Given the description of an element on the screen output the (x, y) to click on. 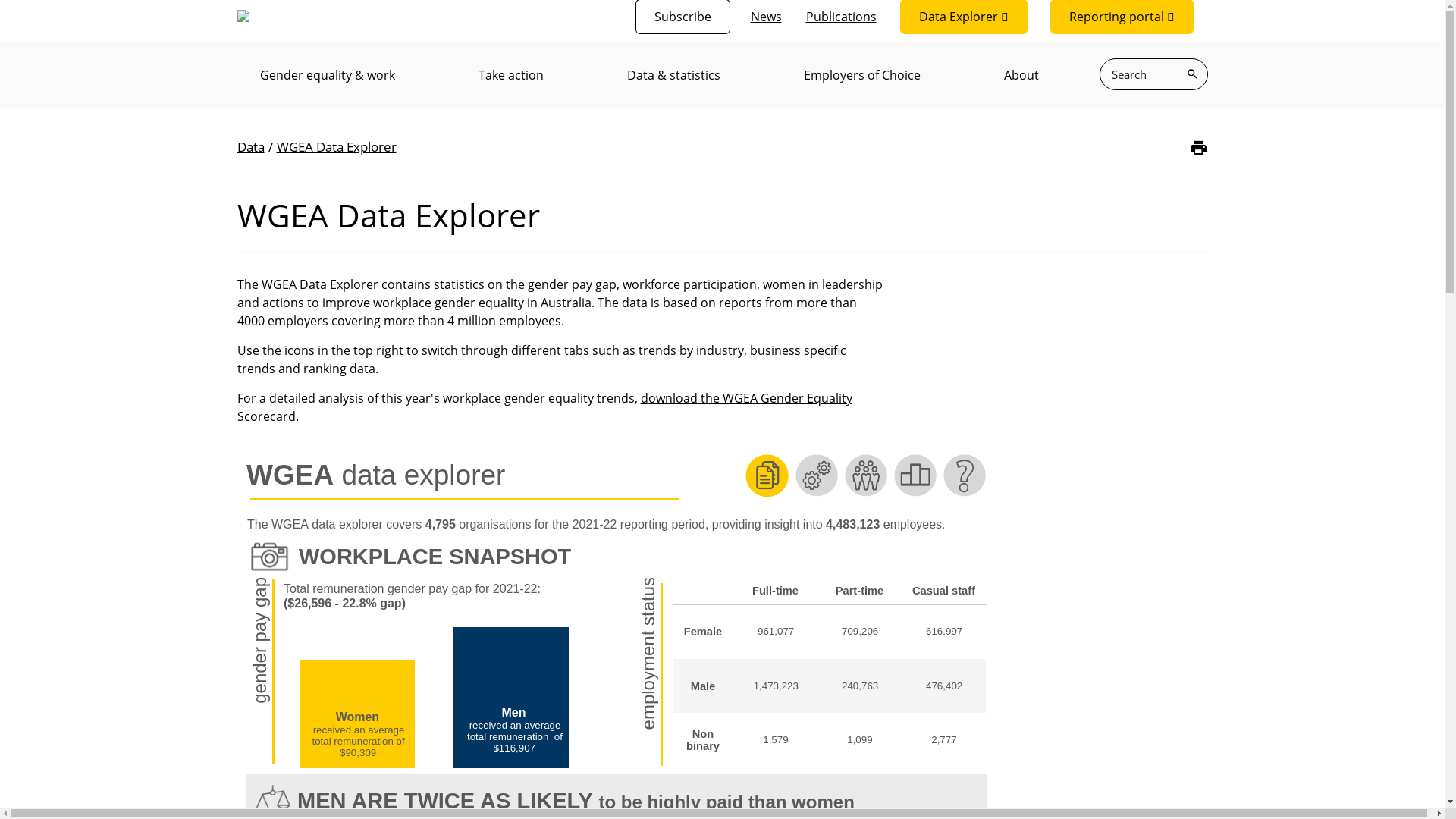
download the WGEA Gender Equality Scorecard Element type: text (543, 406)
Subscribe Element type: text (681, 16)
Publications Element type: text (840, 16)
WGEA Data Explorer Element type: text (335, 146)
Skip to main content Element type: text (0, 0)
Data Element type: text (249, 146)
About Element type: text (1021, 74)
Search Element type: text (1191, 73)
News Element type: text (765, 16)
Data & statistics Element type: text (672, 74)
Gender equality & work Element type: text (326, 74)
Print Element type: hover (1198, 147)
Take action Element type: text (510, 74)
Employers of Choice Element type: text (862, 74)
